Given the description of an element on the screen output the (x, y) to click on. 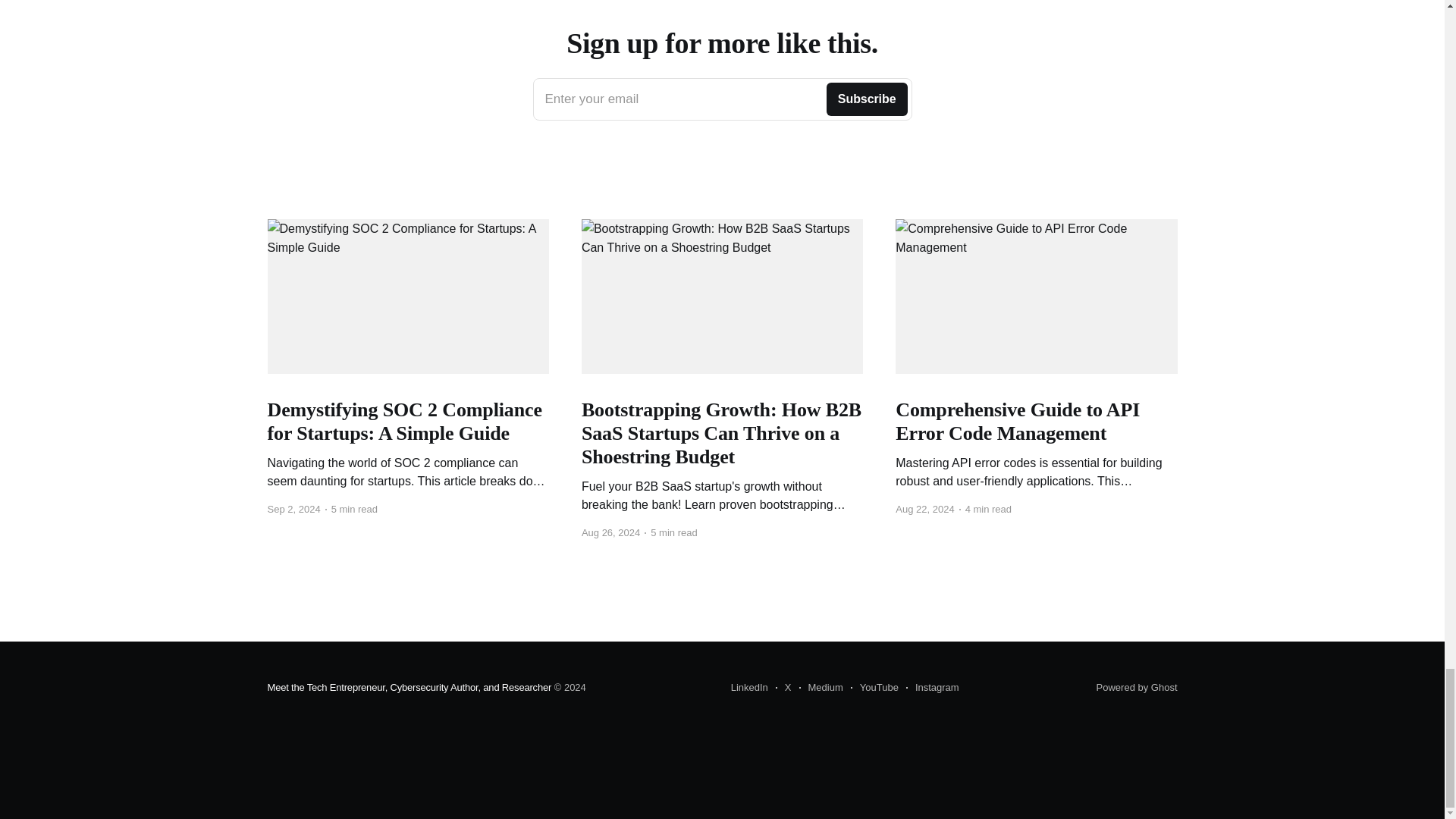
Medium (821, 687)
YouTube (874, 687)
LinkedIn (749, 687)
